Given the description of an element on the screen output the (x, y) to click on. 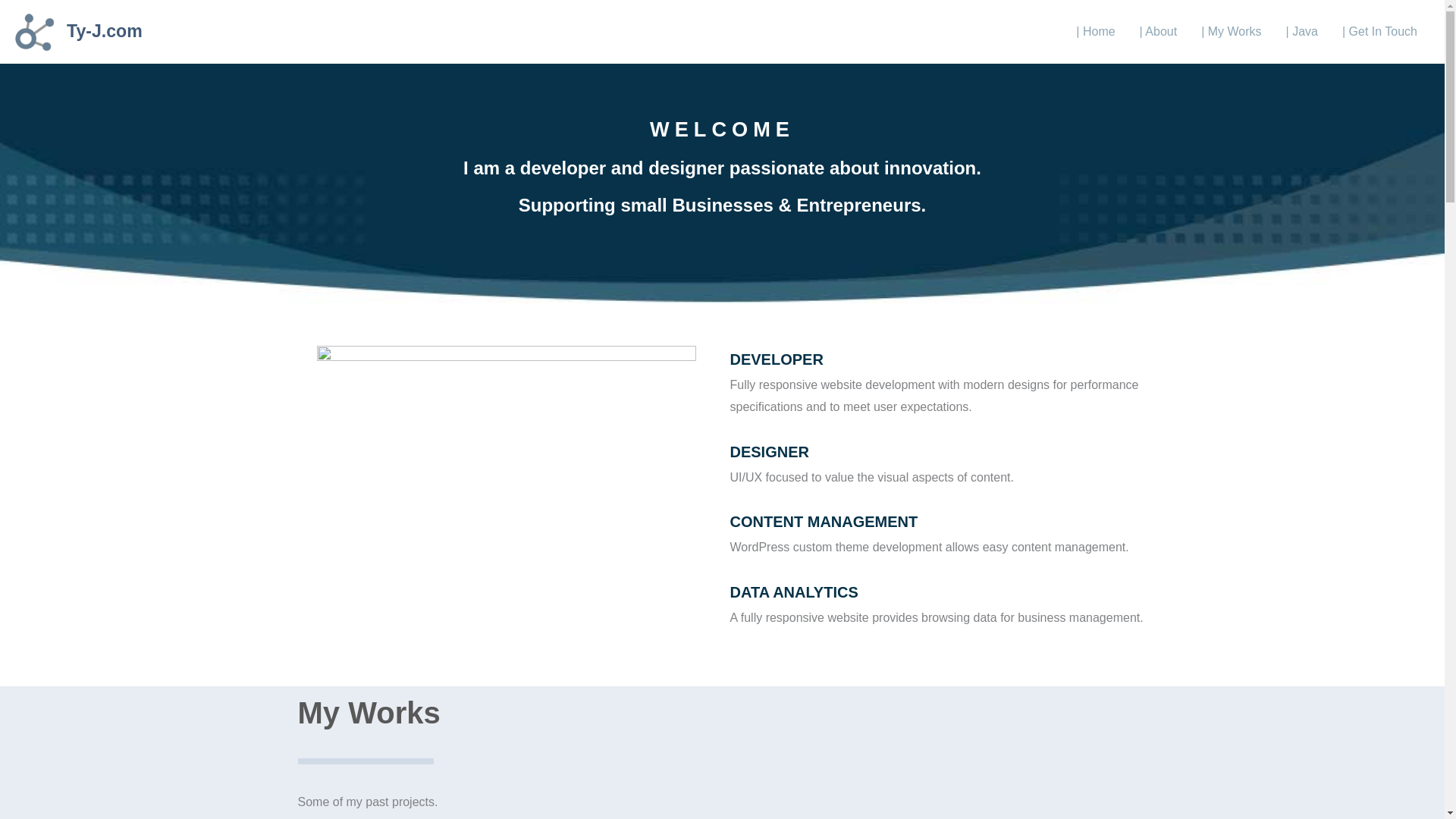
Ty-J.com (104, 30)
